Given the description of an element on the screen output the (x, y) to click on. 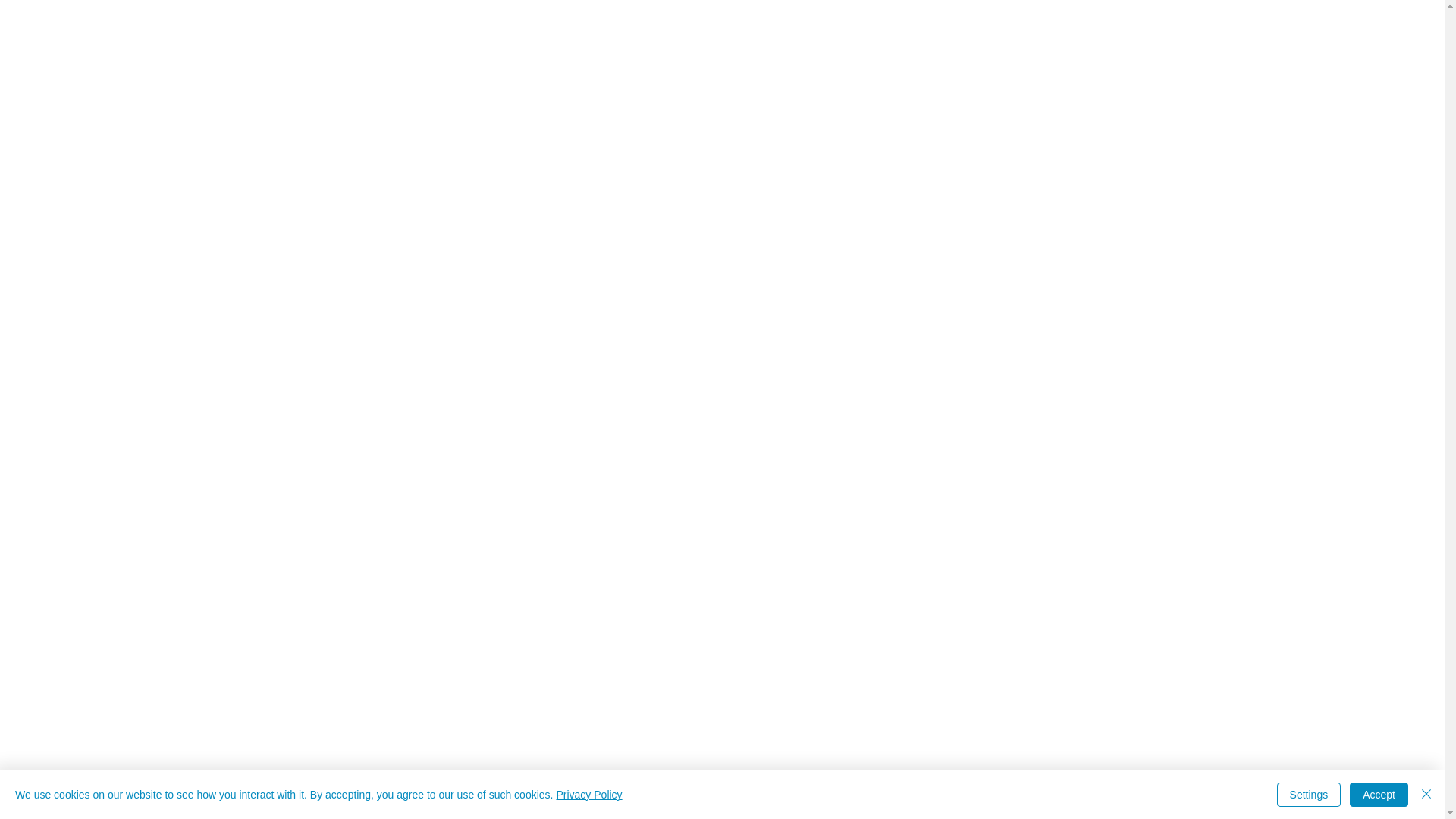
Accept Element type: text (1378, 794)
Settings Element type: text (1309, 794)
Privacy Policy Element type: text (588, 794)
